Given the description of an element on the screen output the (x, y) to click on. 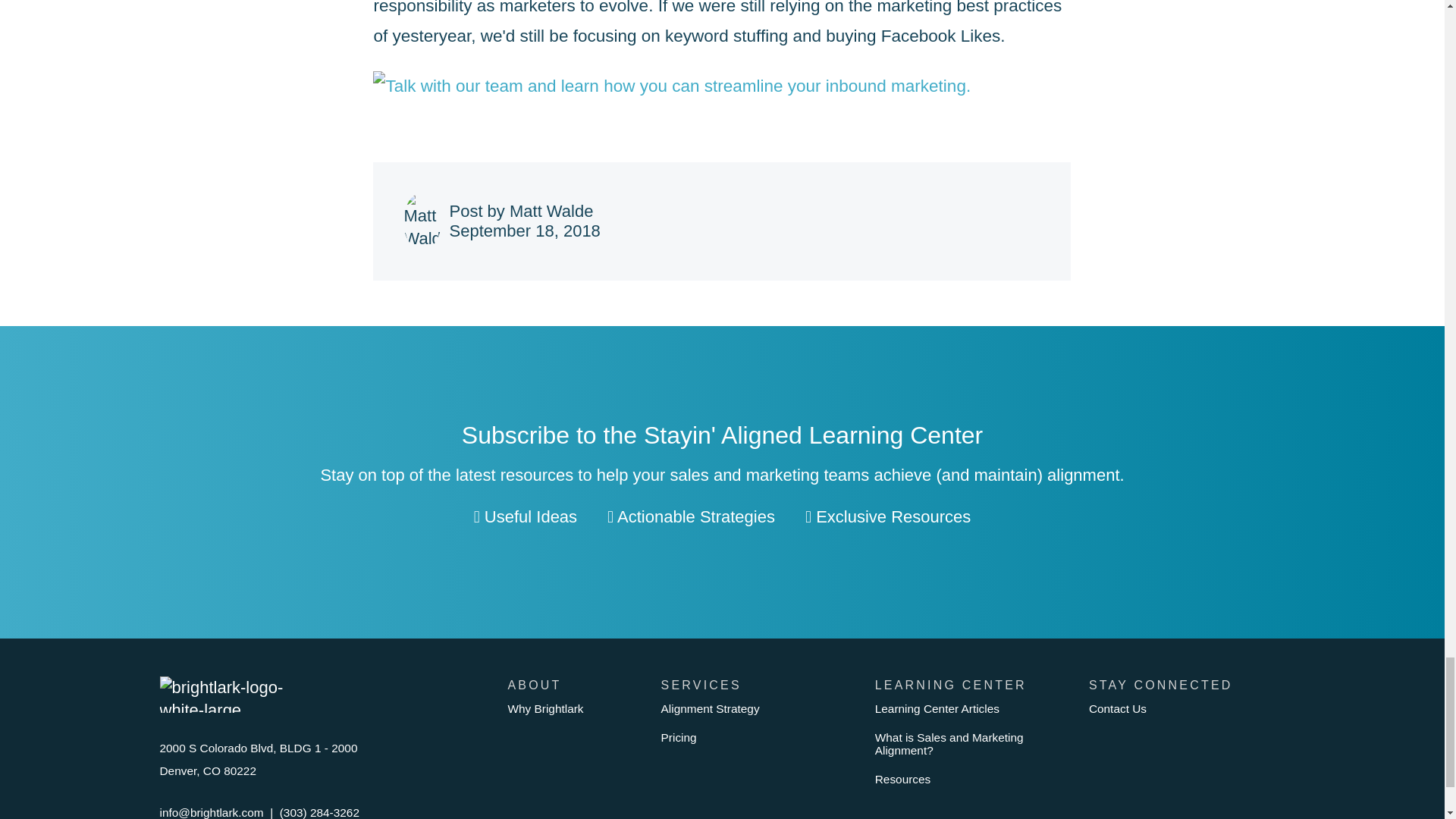
Alignment Strategy (759, 707)
Pricing (759, 737)
Why Brightlark (574, 707)
